Given the description of an element on the screen output the (x, y) to click on. 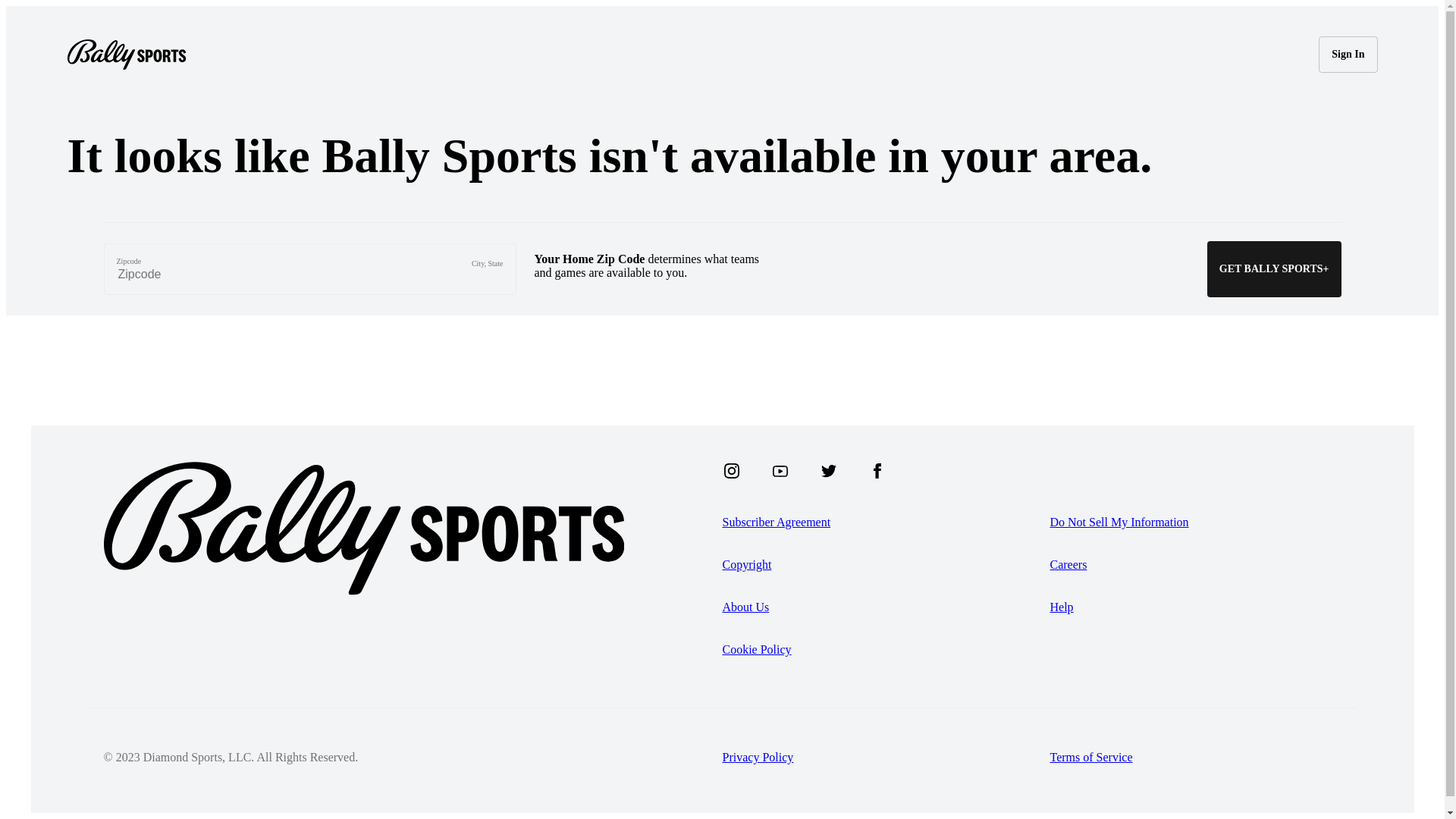
About Us Element type: text (885, 607)
Bally Sports Element type: hover (125, 54)
Sign In Element type: text (1347, 54)
Subscriber Agreement Element type: text (885, 522)
Terms of Service Element type: text (1194, 757)
Careers Element type: text (1194, 564)
Do Not Sell My Information Element type: text (1194, 522)
GET BALLY SPORTS+ Element type: text (1274, 269)
Cookie Policy Element type: text (885, 649)
Copyright Element type: text (885, 564)
Privacy Policy Element type: text (885, 757)
Help Element type: text (1194, 607)
